Given the description of an element on the screen output the (x, y) to click on. 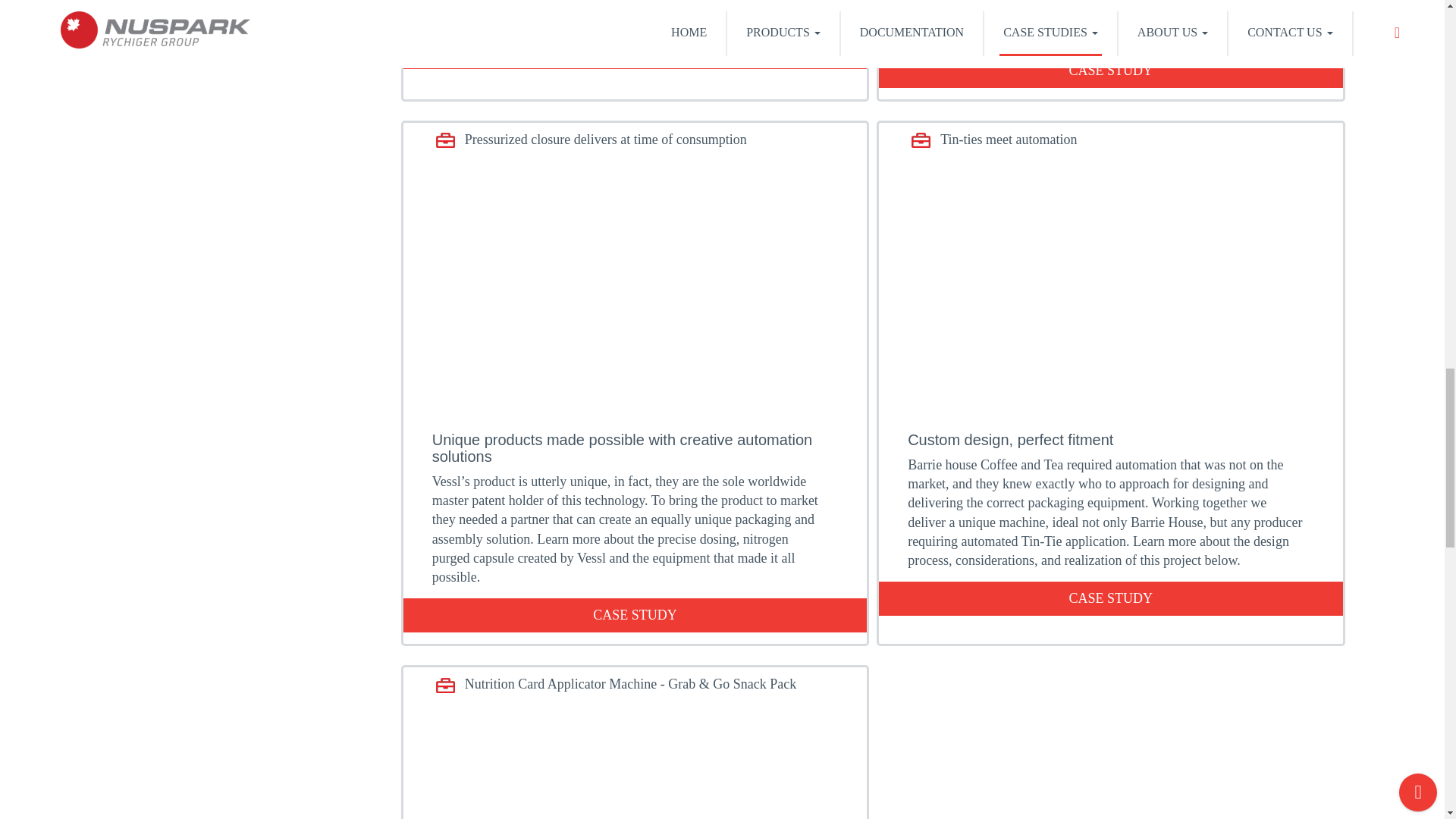
CASE STUDY (1110, 70)
Tin-ties meet automation (1006, 139)
CASE STUDY (1110, 598)
CASE STUDY (634, 50)
CASE STUDY (634, 615)
Pressurized closure delivers at time of consumption (603, 139)
